Given the description of an element on the screen output the (x, y) to click on. 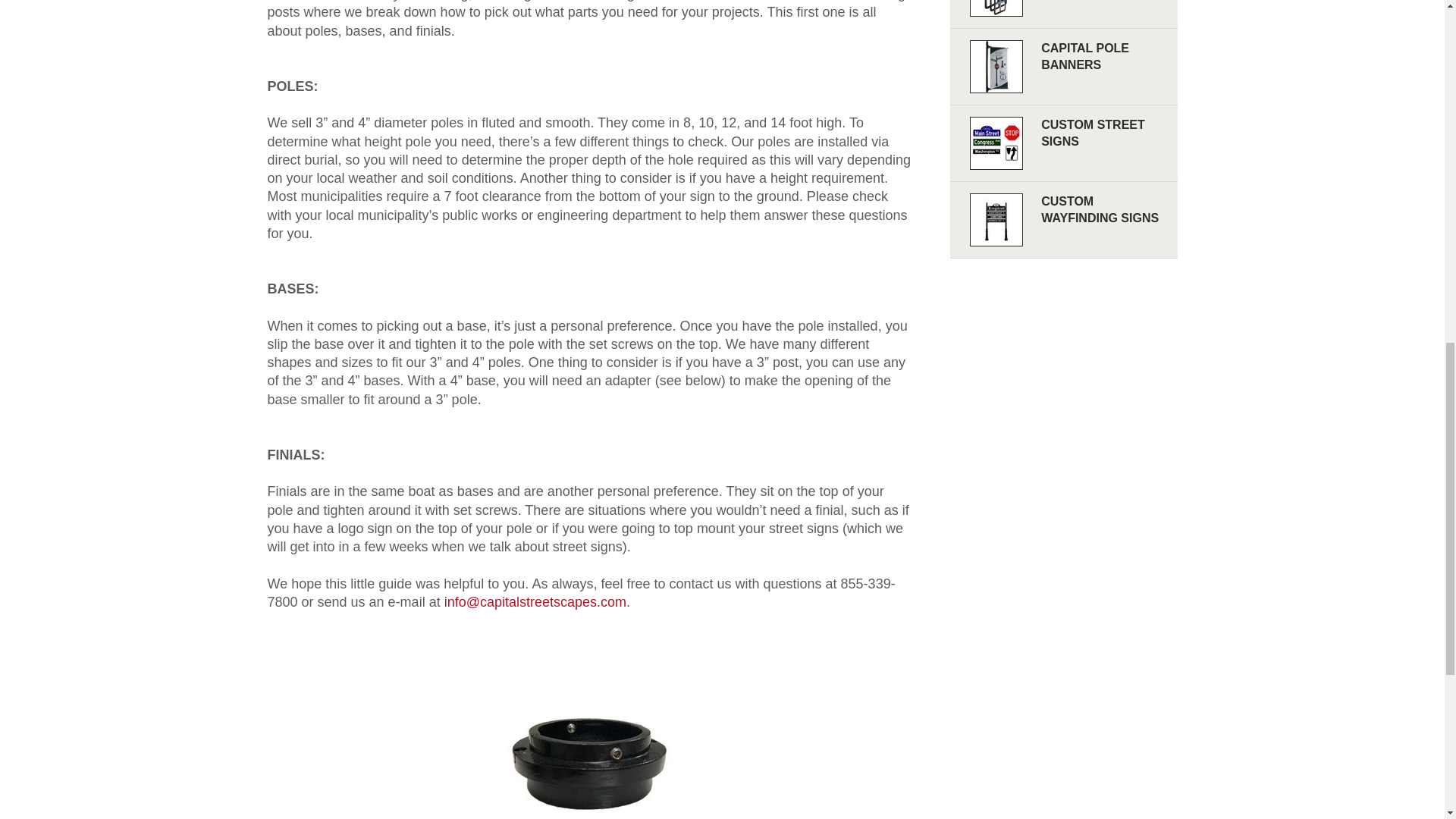
Base adapter for a 4" base and a 3" pole (589, 733)
